Given the description of an element on the screen output the (x, y) to click on. 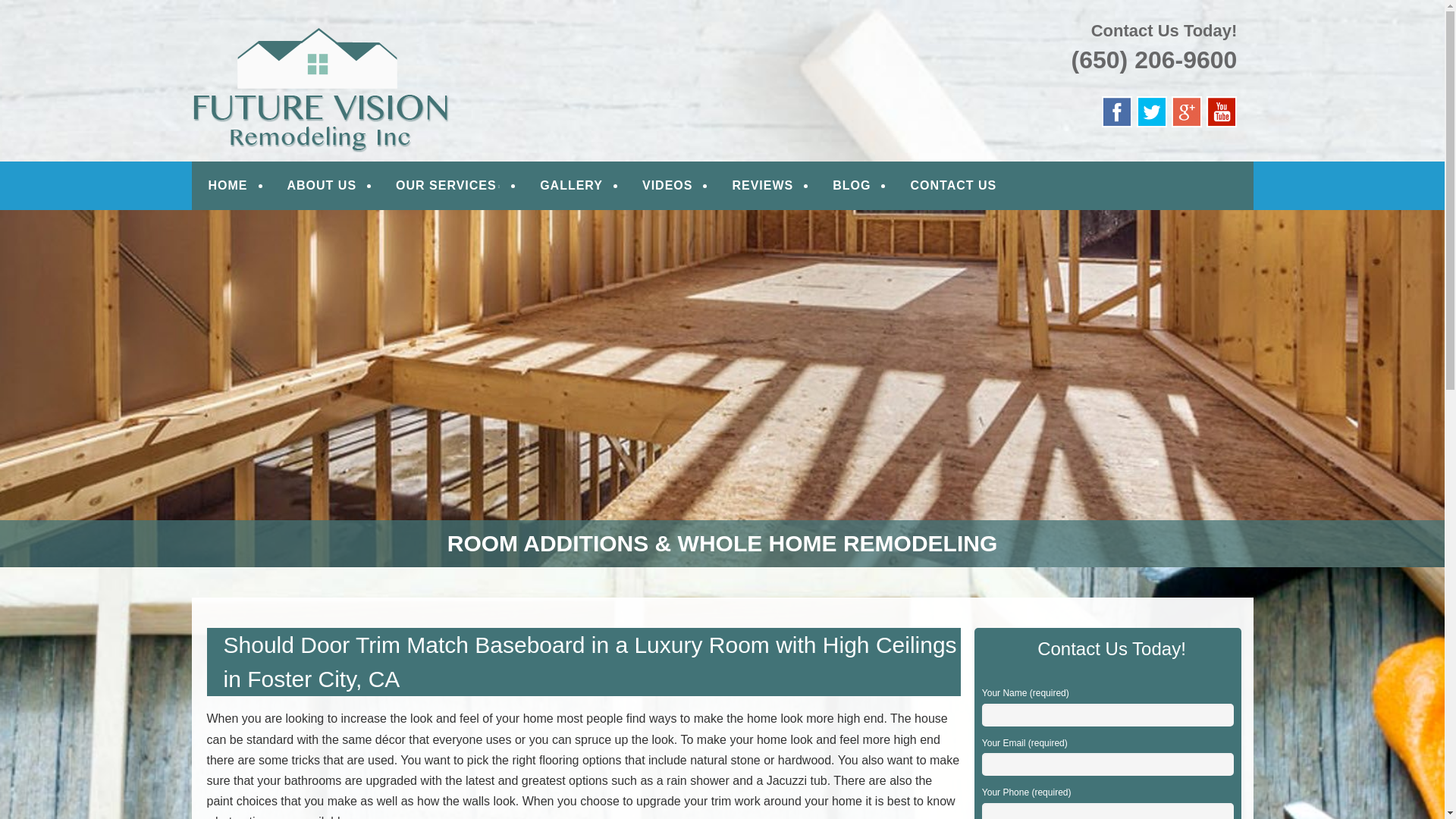
BLOG (851, 185)
OUR SERVICES (448, 185)
REVIEWS (761, 185)
CONTACT US (953, 185)
VIDEOS (667, 185)
FUTURE VISION REMODELING (412, 32)
Future Vision Remodeling (412, 32)
HOME (227, 185)
GALLERY (571, 185)
ABOUT US (321, 185)
